Given the description of an element on the screen output the (x, y) to click on. 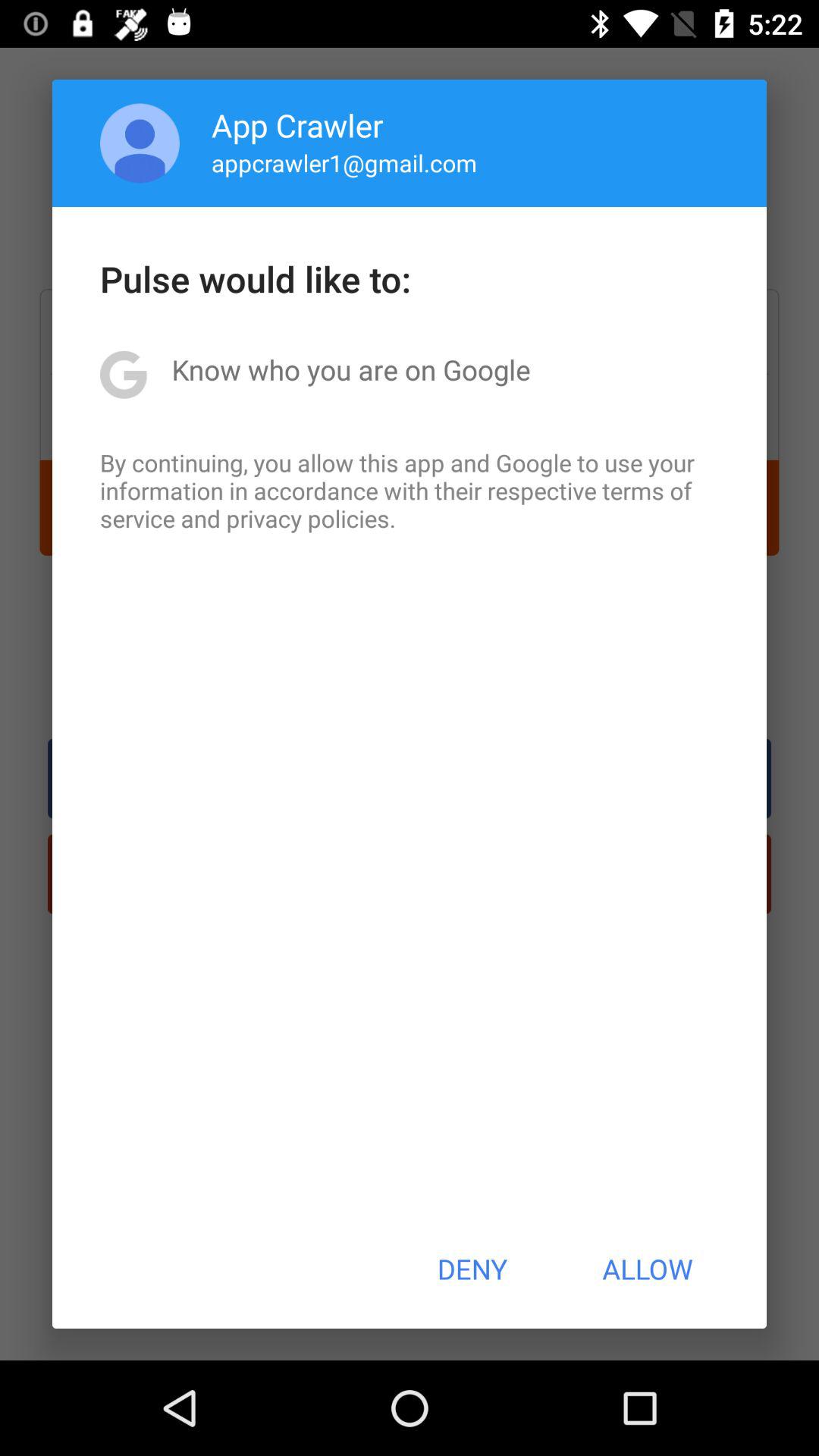
press the app to the left of the app crawler item (139, 143)
